Given the description of an element on the screen output the (x, y) to click on. 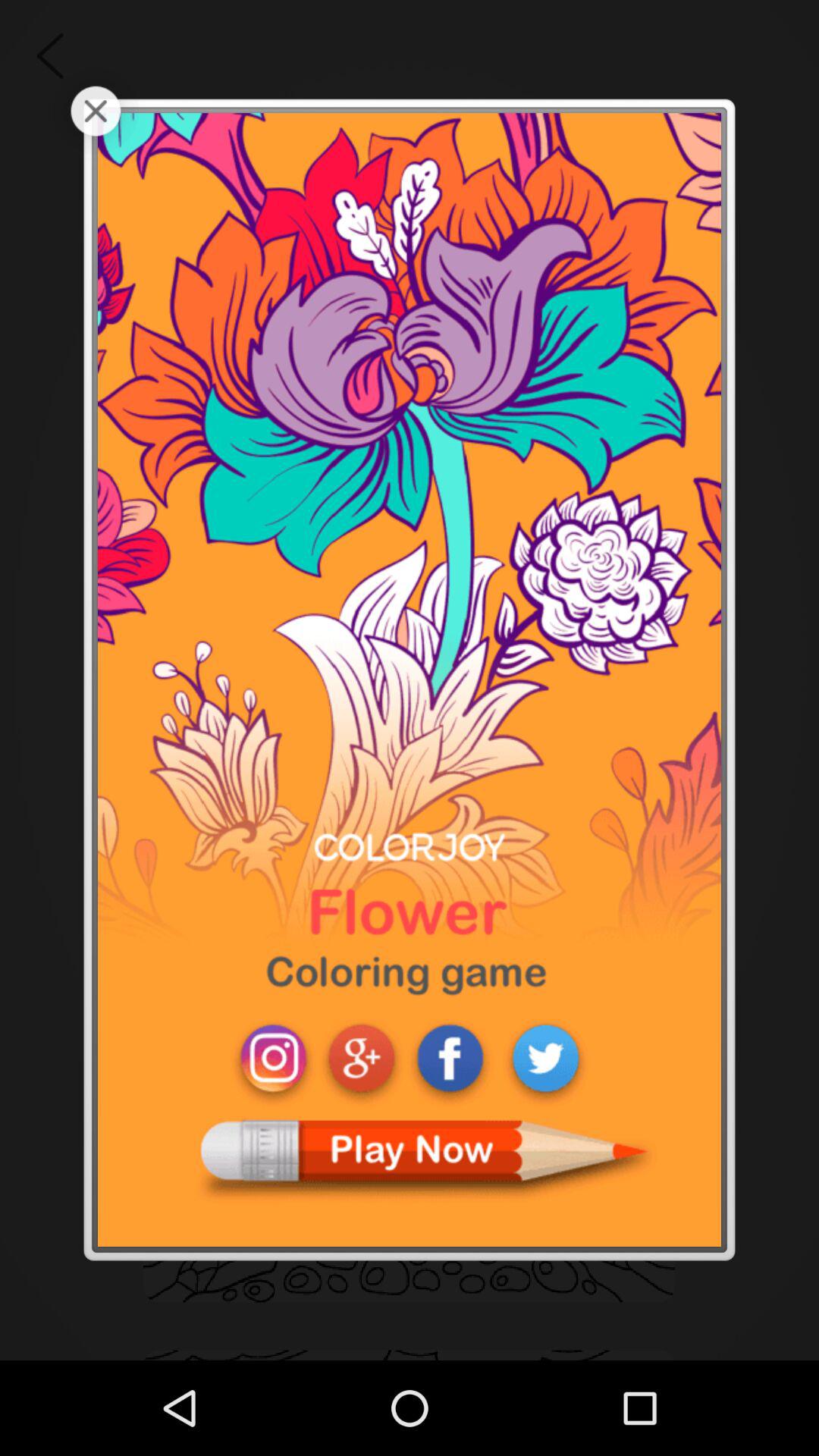
close advertisements (95, 110)
